Given the description of an element on the screen output the (x, y) to click on. 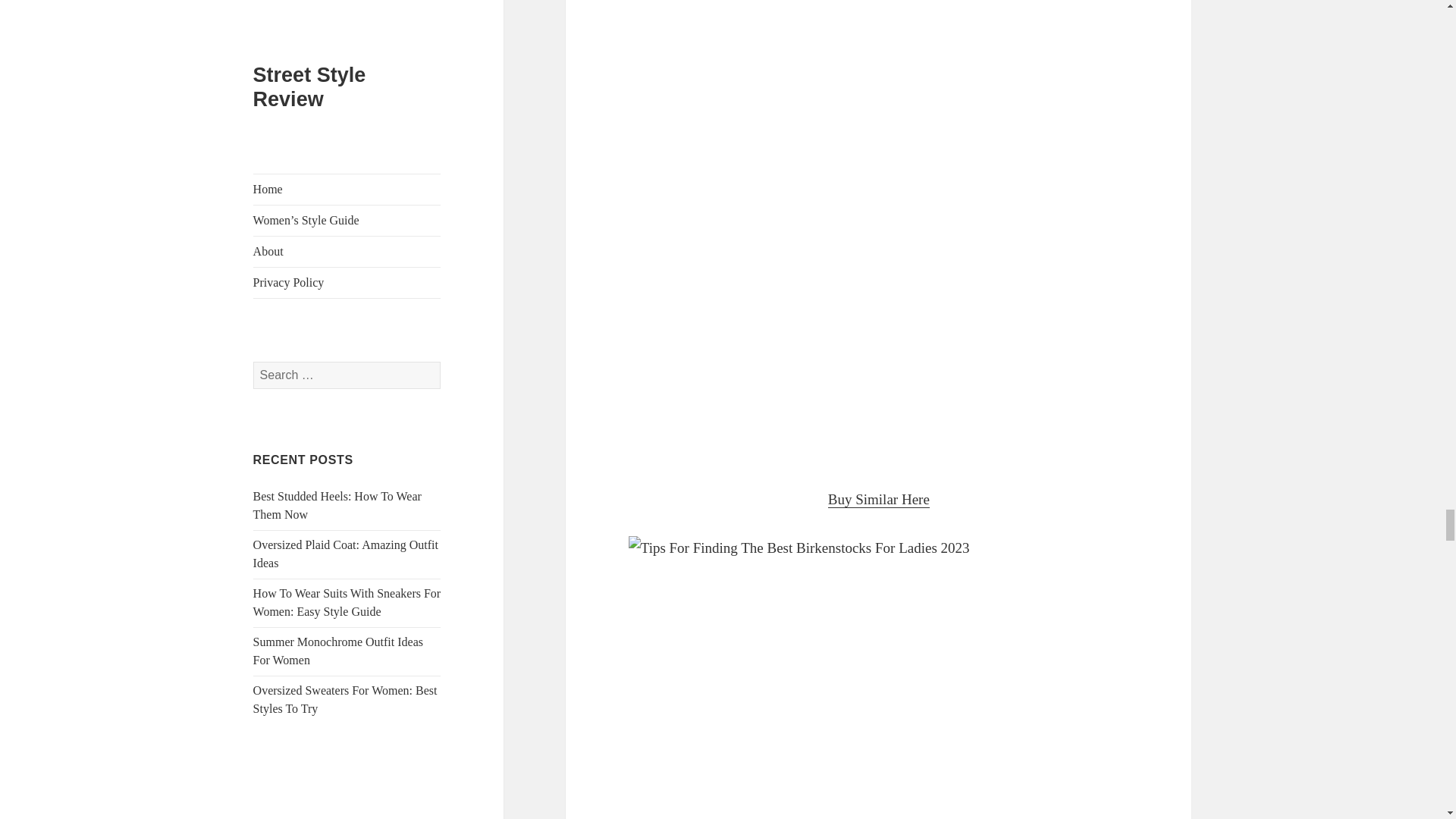
Buy Similar Here (879, 499)
